Given the description of an element on the screen output the (x, y) to click on. 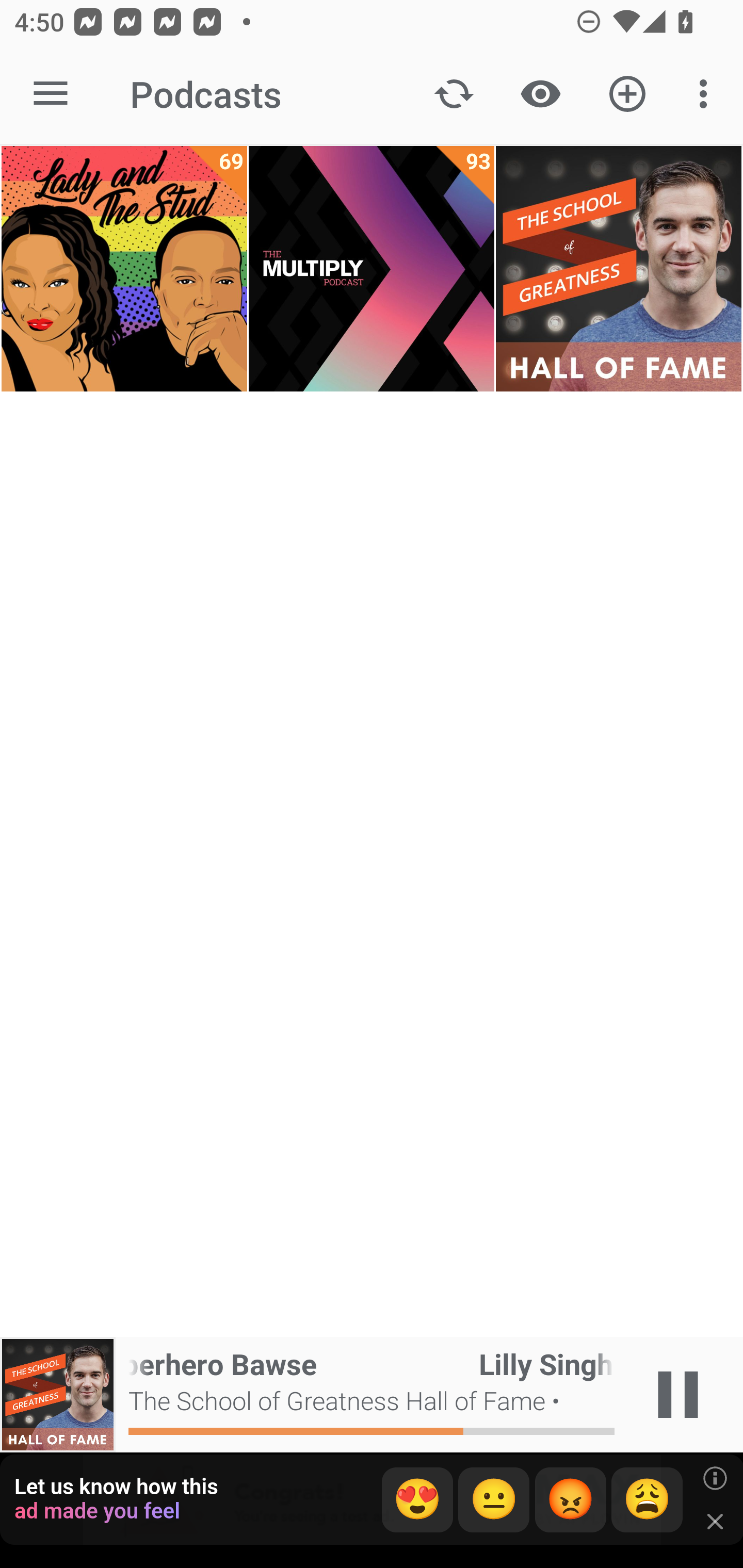
Open navigation sidebar (50, 93)
Update (453, 93)
Show / Hide played content (540, 93)
Add new Podcast (626, 93)
More options (706, 93)
Lady and The Stud 69 (124, 268)
The Multiply Podcast 93 (371, 268)
The School of Greatness Hall of Fame (618, 268)
Play / Pause (677, 1394)
app-monetization (371, 1500)
😍 (416, 1499)
😐 (493, 1499)
😡 (570, 1499)
😩 (647, 1499)
